Given the description of an element on the screen output the (x, y) to click on. 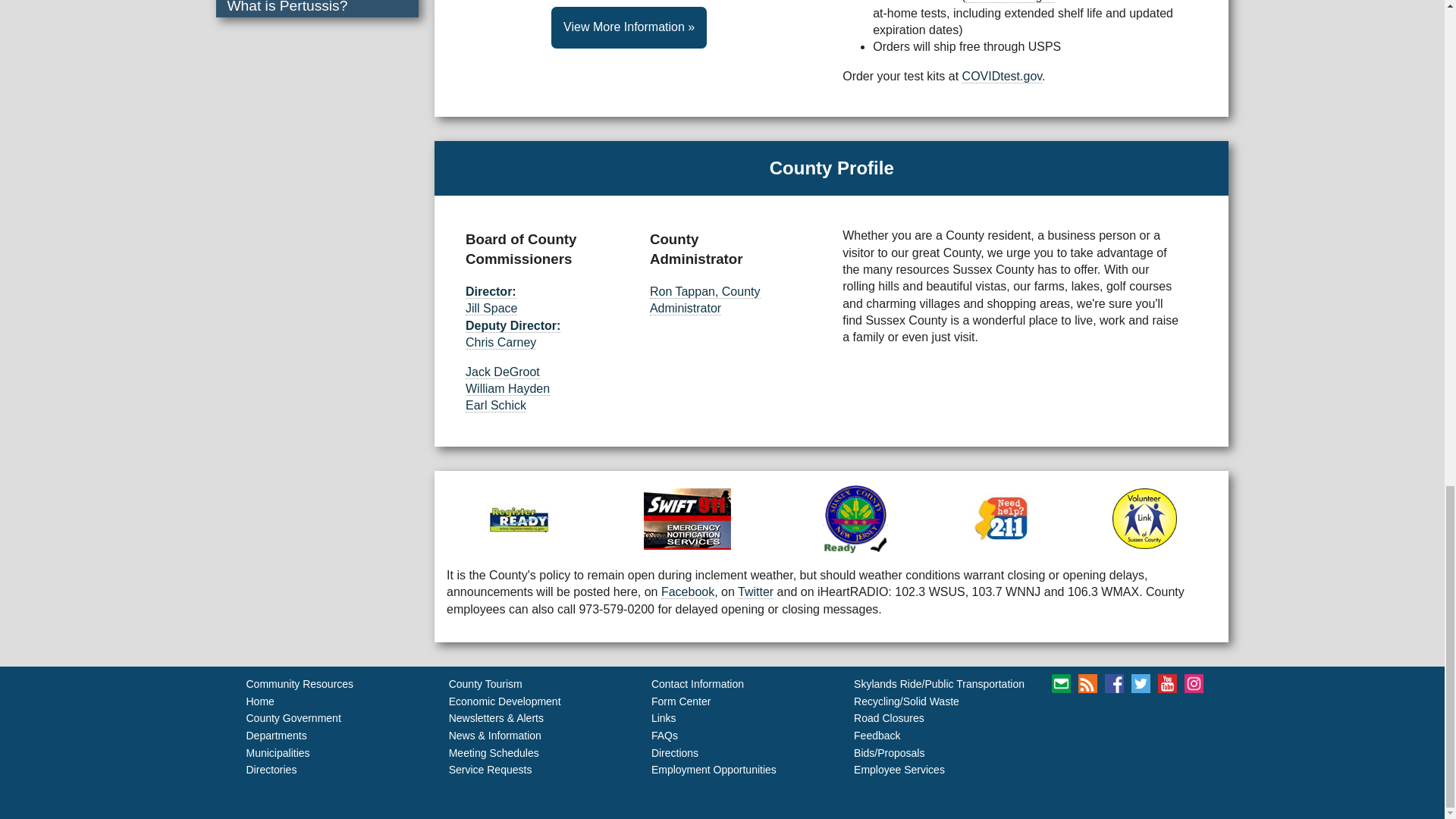
Register for Community Alerts (686, 518)
Visit our Facebook page (1114, 683)
Visit our RSS feed (1087, 683)
Sign Up for emails from Sussex County (1060, 683)
Visit our Instagram page (1194, 683)
Follow us on Twitter (1140, 683)
Visit our YouTube channel (1166, 683)
Register Ready - NJ Special Needs Registry (518, 519)
